Given the description of an element on the screen output the (x, y) to click on. 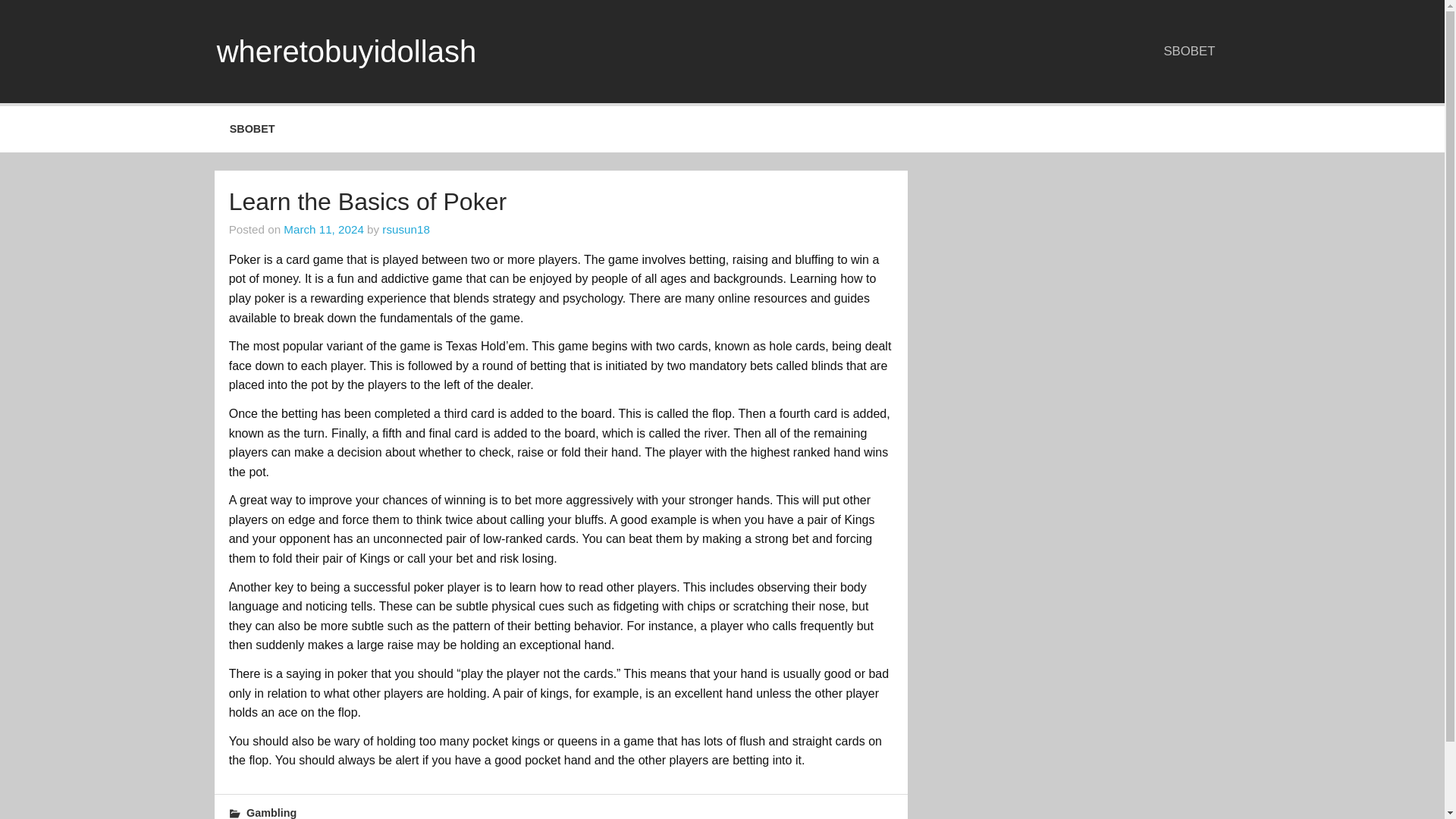
March 11, 2024 (323, 228)
wheretobuyidollash (346, 51)
SBOBET (1189, 51)
SBOBET (251, 128)
12:17 pm (323, 228)
View all posts by rsusun18 (405, 228)
rsusun18 (405, 228)
Gambling (271, 812)
